Given the description of an element on the screen output the (x, y) to click on. 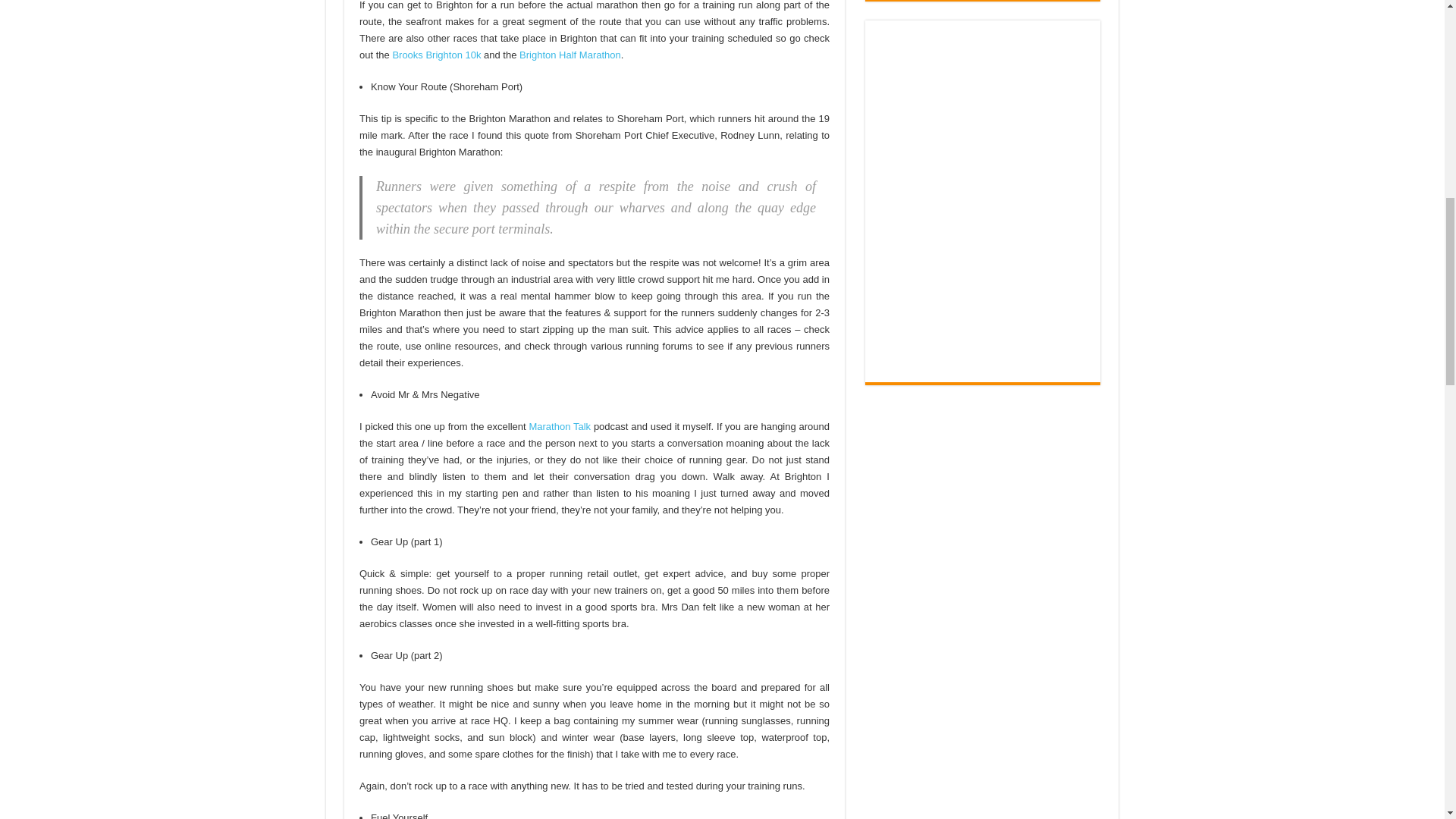
Brooks Brighton 10k (435, 54)
Marathon Talk (559, 426)
Brighton Half Marathon (570, 54)
